Given the description of an element on the screen output the (x, y) to click on. 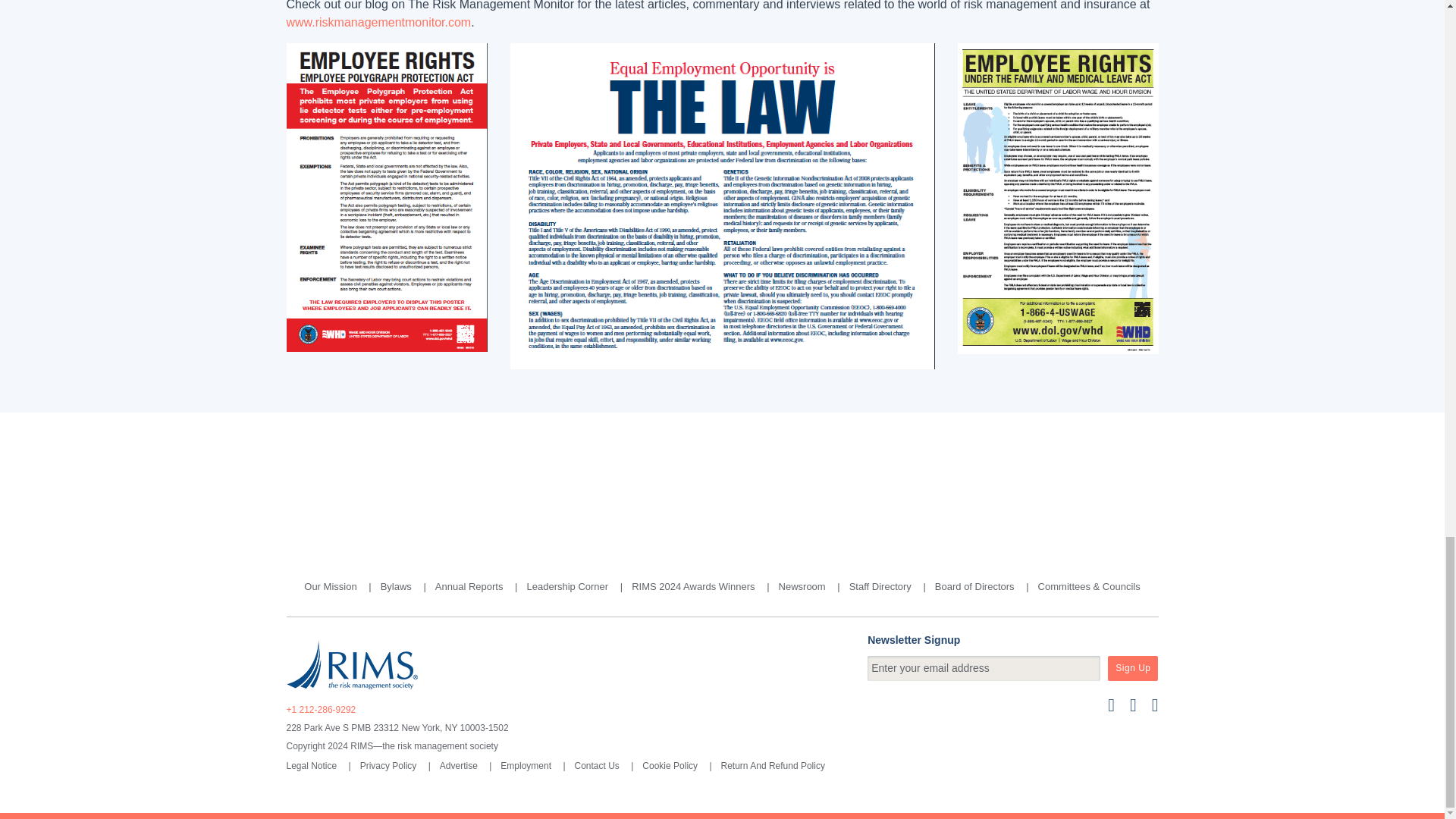
3rd party ad content (721, 480)
RIMS, the risk management society (351, 664)
